Given the description of an element on the screen output the (x, y) to click on. 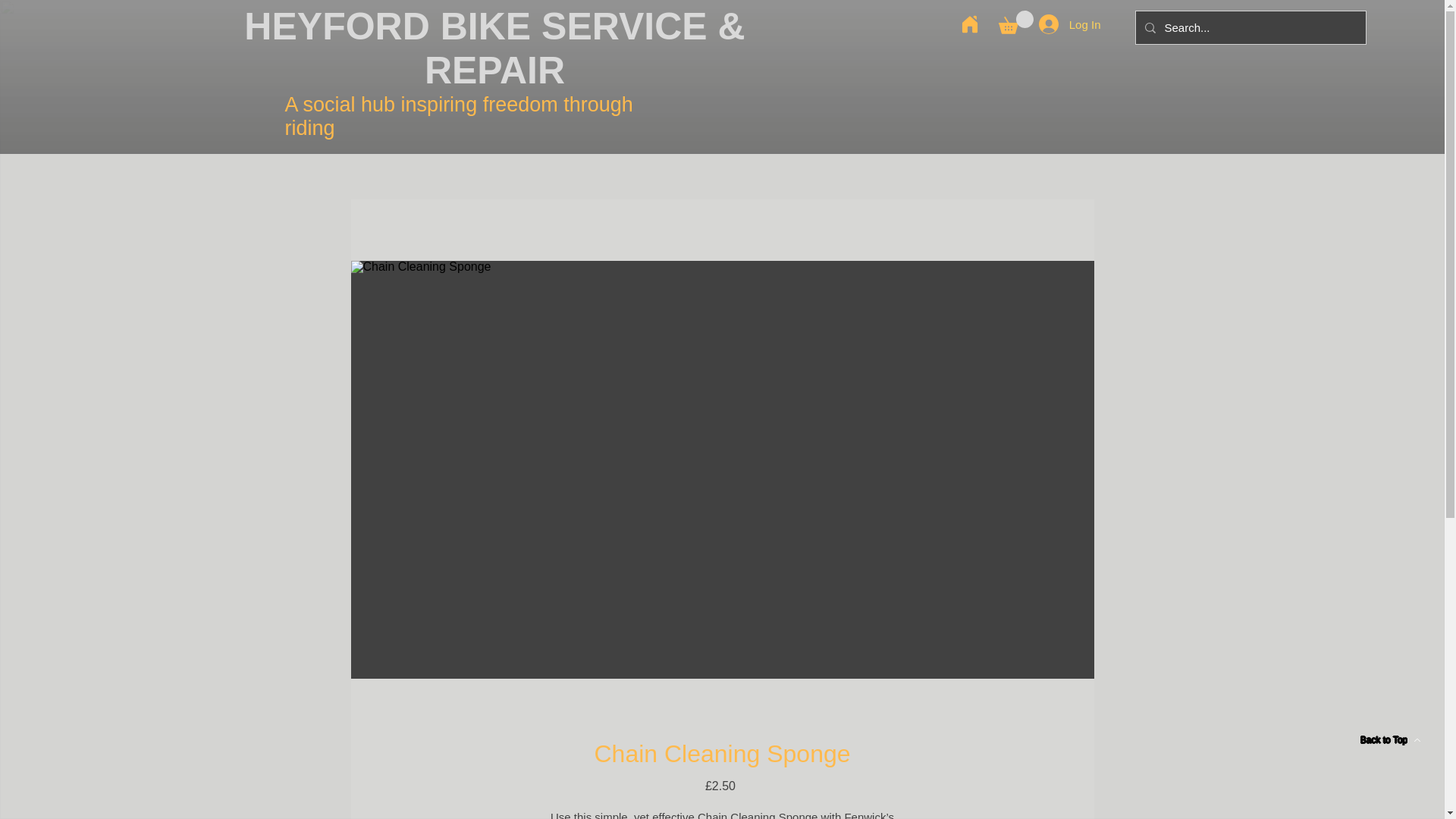
Log In (1069, 23)
